Given the description of an element on the screen output the (x, y) to click on. 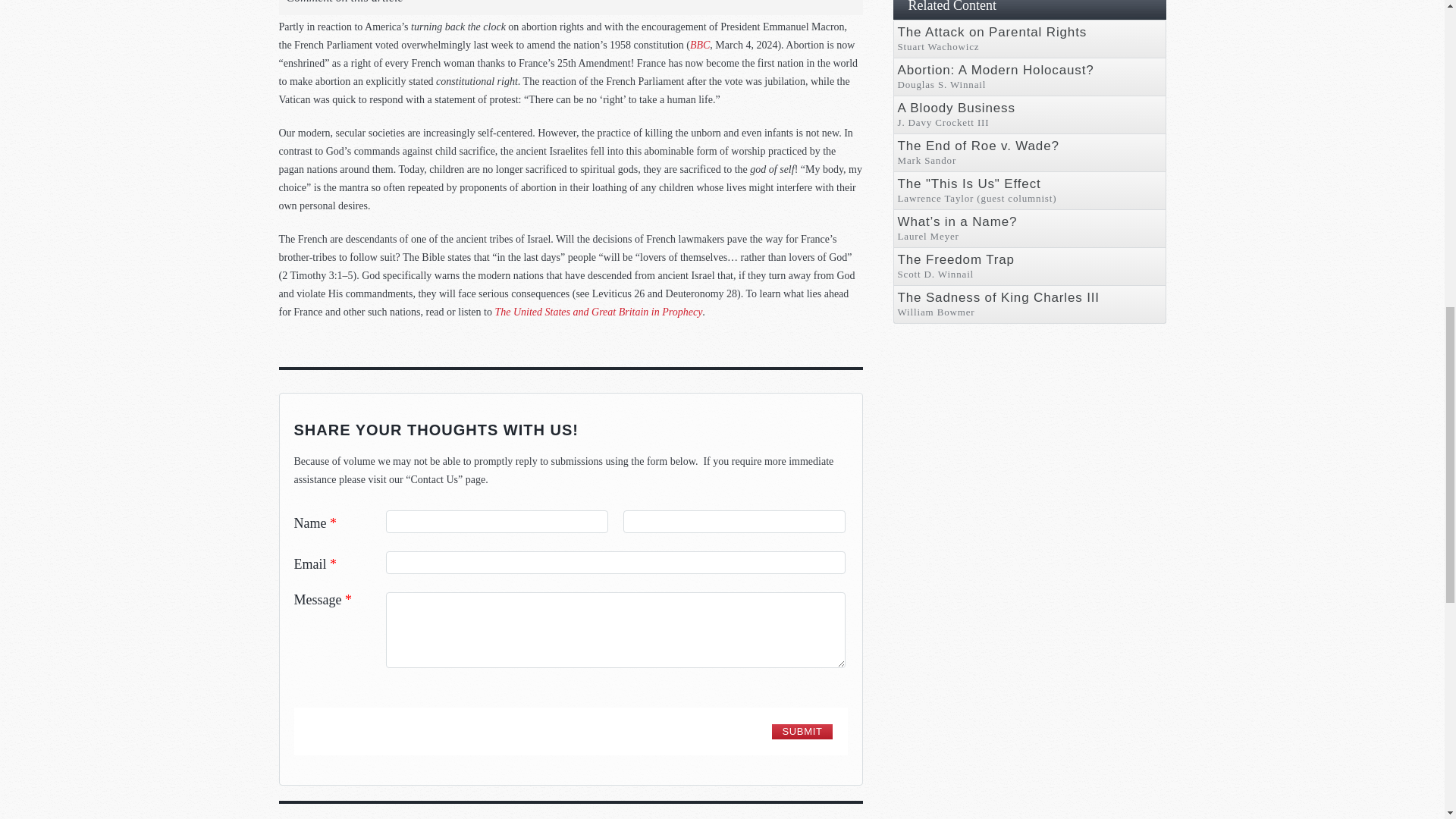
The United States and Great Britain in Prophecy (598, 311)
BBC (700, 44)
Submit (801, 731)
Submit (801, 731)
Comment on this article (344, 3)
